Given the description of an element on the screen output the (x, y) to click on. 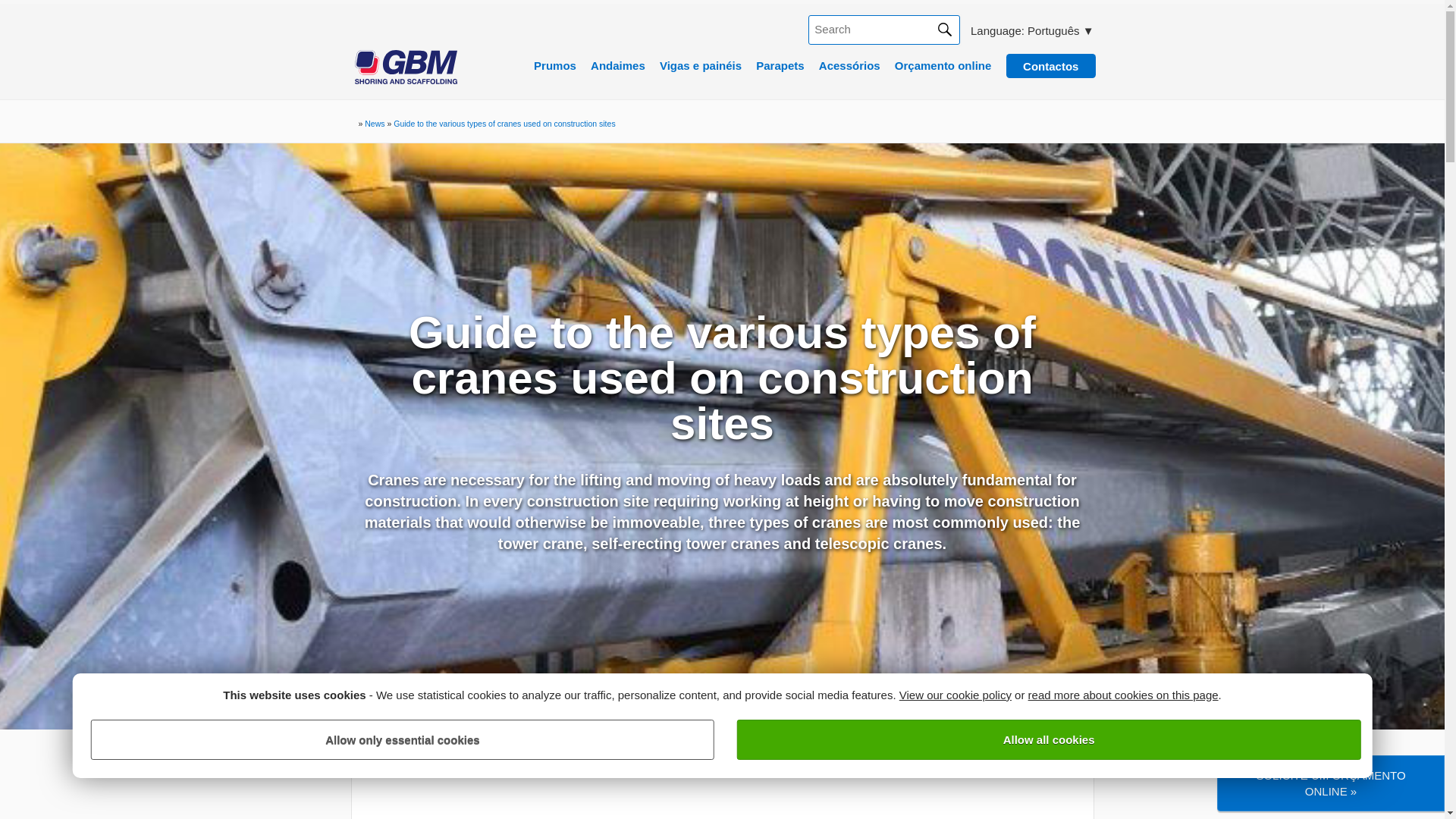
Parapets (780, 68)
Prumos (555, 68)
Andaimes (617, 68)
Prumos (555, 68)
GBM Shoring And Scaffolding - Home (406, 79)
Andaimes (617, 68)
